Given the description of an element on the screen output the (x, y) to click on. 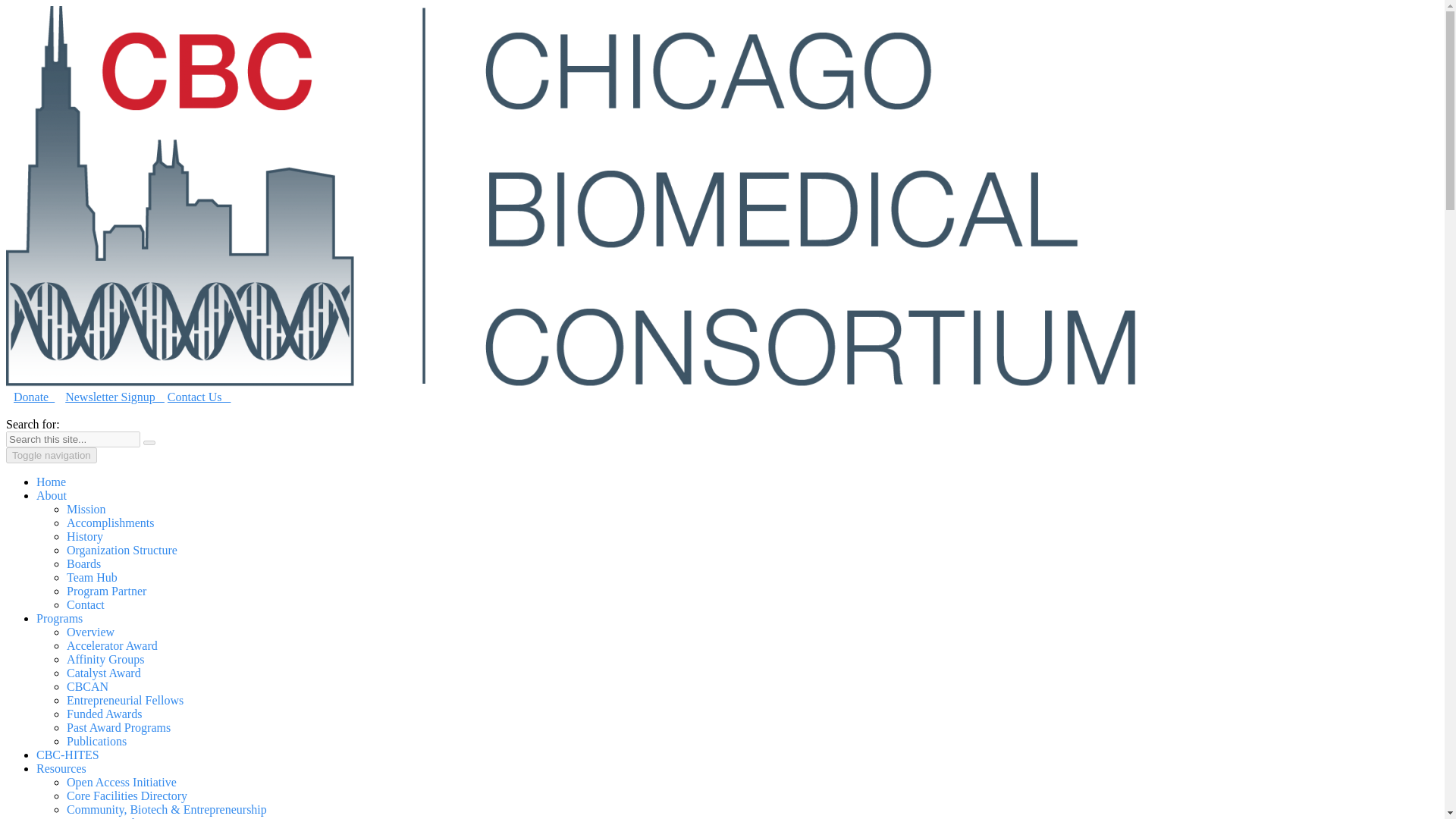
Organization Structure (121, 549)
Toggle navigation (51, 455)
Programs (59, 617)
Mission (86, 508)
Contact (85, 604)
About (51, 495)
CBC-HITES (67, 754)
Publications (96, 740)
History (84, 535)
Boards (83, 563)
Past Award Programs (118, 727)
Newsletter Signup    (114, 396)
CBCAN (86, 686)
Team Hub (91, 576)
Program Partner (106, 590)
